Given the description of an element on the screen output the (x, y) to click on. 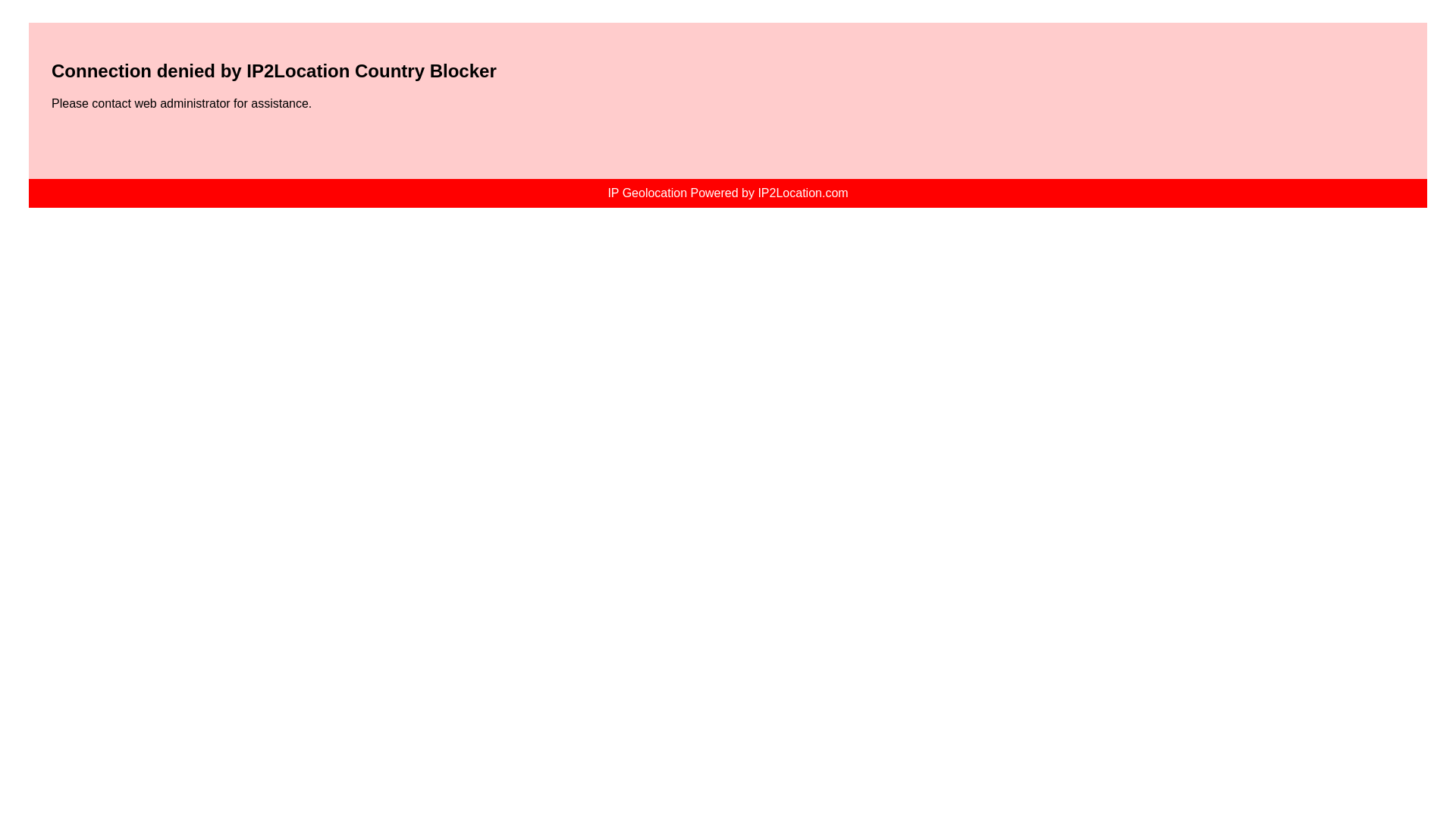
IP Geolocation Powered by IP2Location.com Element type: text (727, 192)
